Given the description of an element on the screen output the (x, y) to click on. 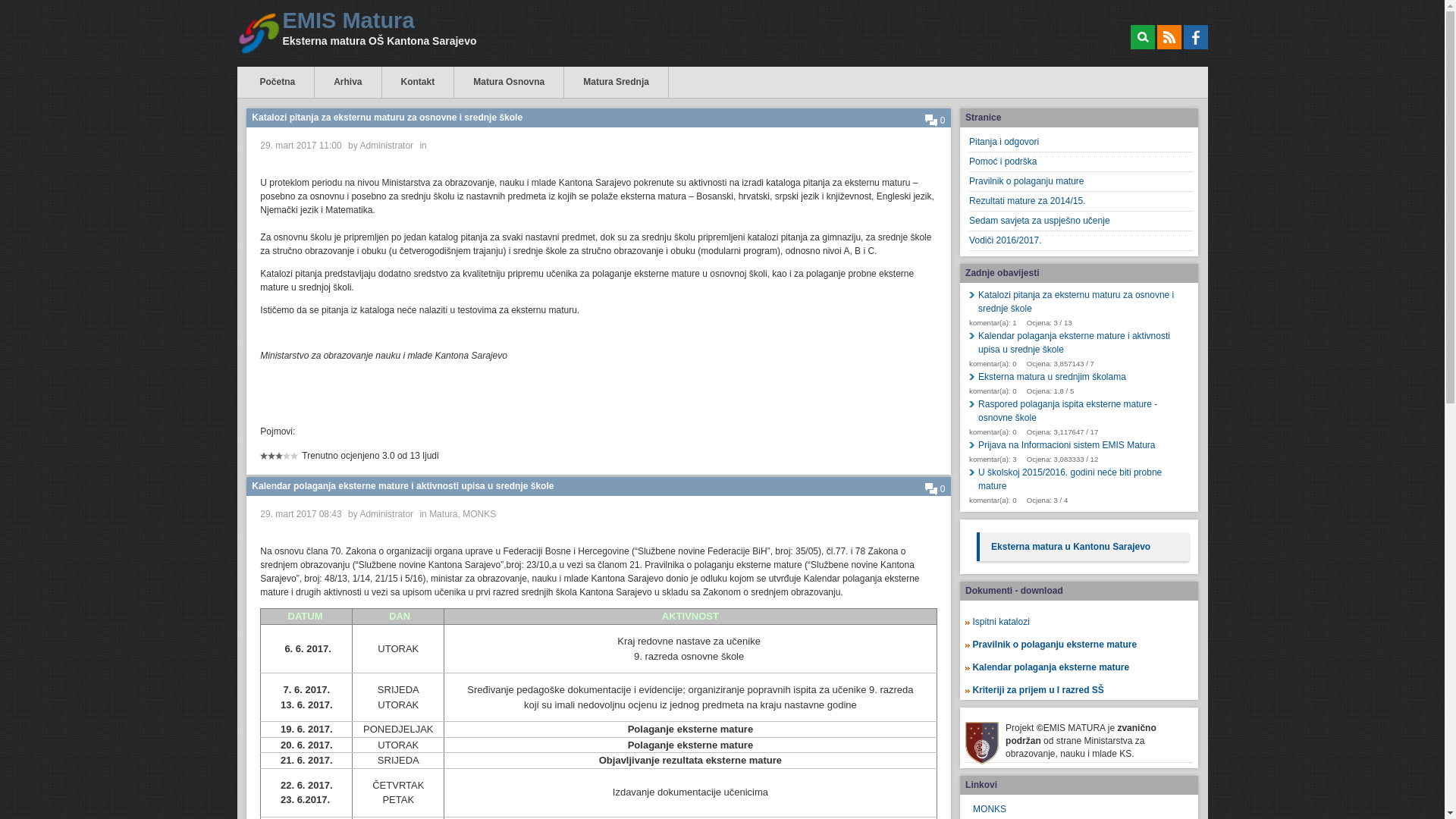
0 Element type: text (935, 488)
Prijava na Informacioni sistem EMIS Matura Element type: text (1080, 444)
2 Element type: text (267, 460)
5 Element type: text (279, 460)
Matura Srednja Element type: text (616, 81)
Pravilnik o polaganju eksterne mature Element type: text (1060, 644)
Arhiva Element type: text (347, 81)
EMIS Matura Element type: text (382, 20)
Kalendar polaganja eksterne mature Element type: text (1056, 667)
Ispitni katalozi Element type: text (1000, 621)
Matura Element type: text (443, 513)
Pitanja i odgovori Element type: text (1080, 141)
3 Element type: text (271, 460)
0 Element type: text (935, 120)
Eksterna matura u Kantonu Sarajevo Element type: text (1070, 546)
Pravilnik o polaganju mature Element type: text (1080, 181)
Feed URL Element type: hover (1169, 37)
4 Element type: text (275, 460)
Prati nas na Facebook-u! Element type: hover (1195, 37)
Kontakt Element type: text (418, 81)
Administrator Element type: text (386, 513)
Administrator Element type: text (386, 145)
1 Element type: text (263, 460)
MONKS Element type: text (478, 513)
Rezultati mature za 2014/15. Element type: text (1080, 200)
Matura Osnovna Element type: text (508, 81)
